Given the description of an element on the screen output the (x, y) to click on. 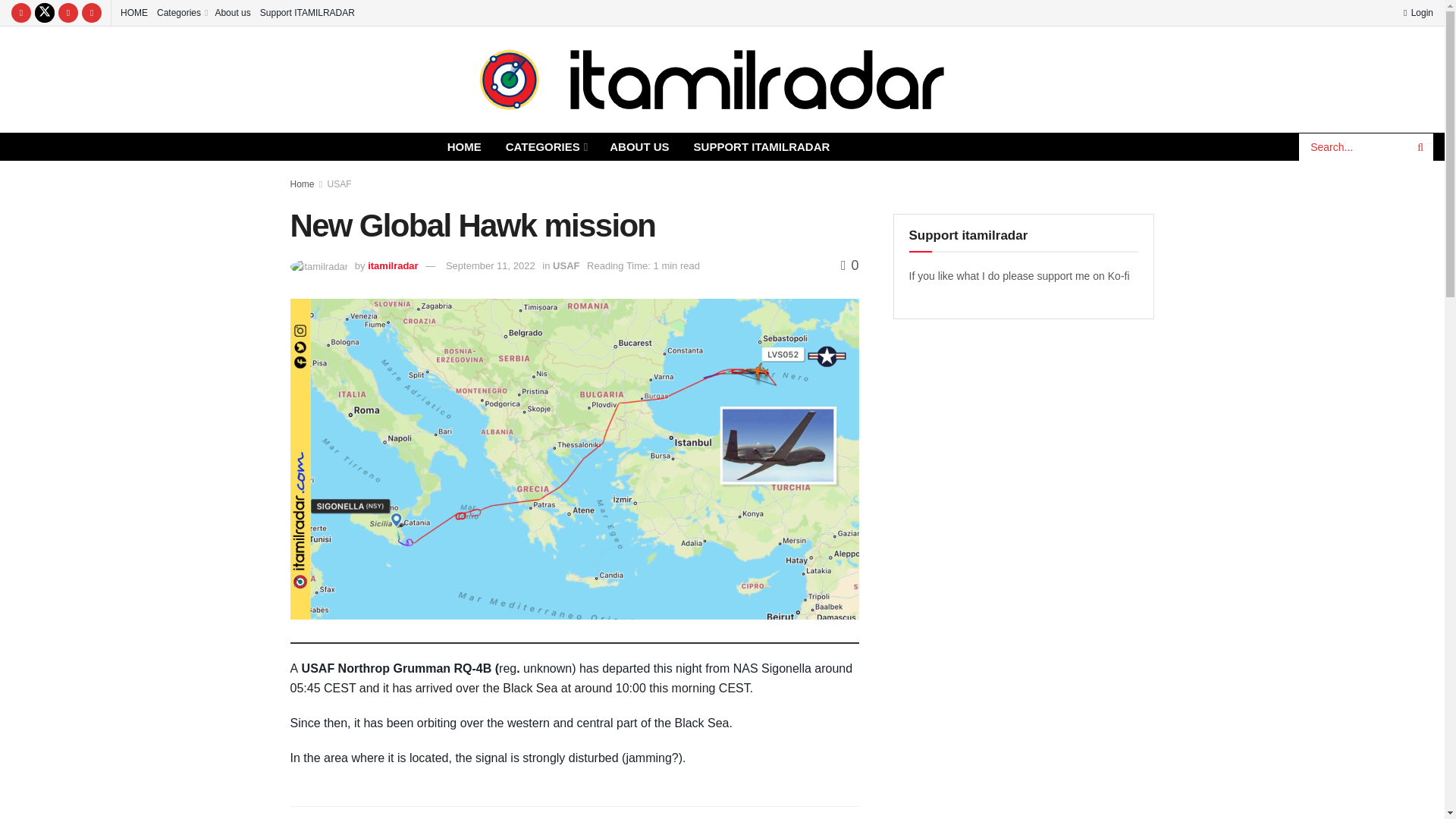
SUPPORT ITAMILRADAR (762, 146)
Login (1417, 12)
ABOUT US (638, 146)
HOME (134, 12)
HOME (464, 146)
CATEGORIES (545, 146)
About us (232, 12)
Categories (181, 12)
Support ITAMILRADAR (307, 12)
